Given the description of an element on the screen output the (x, y) to click on. 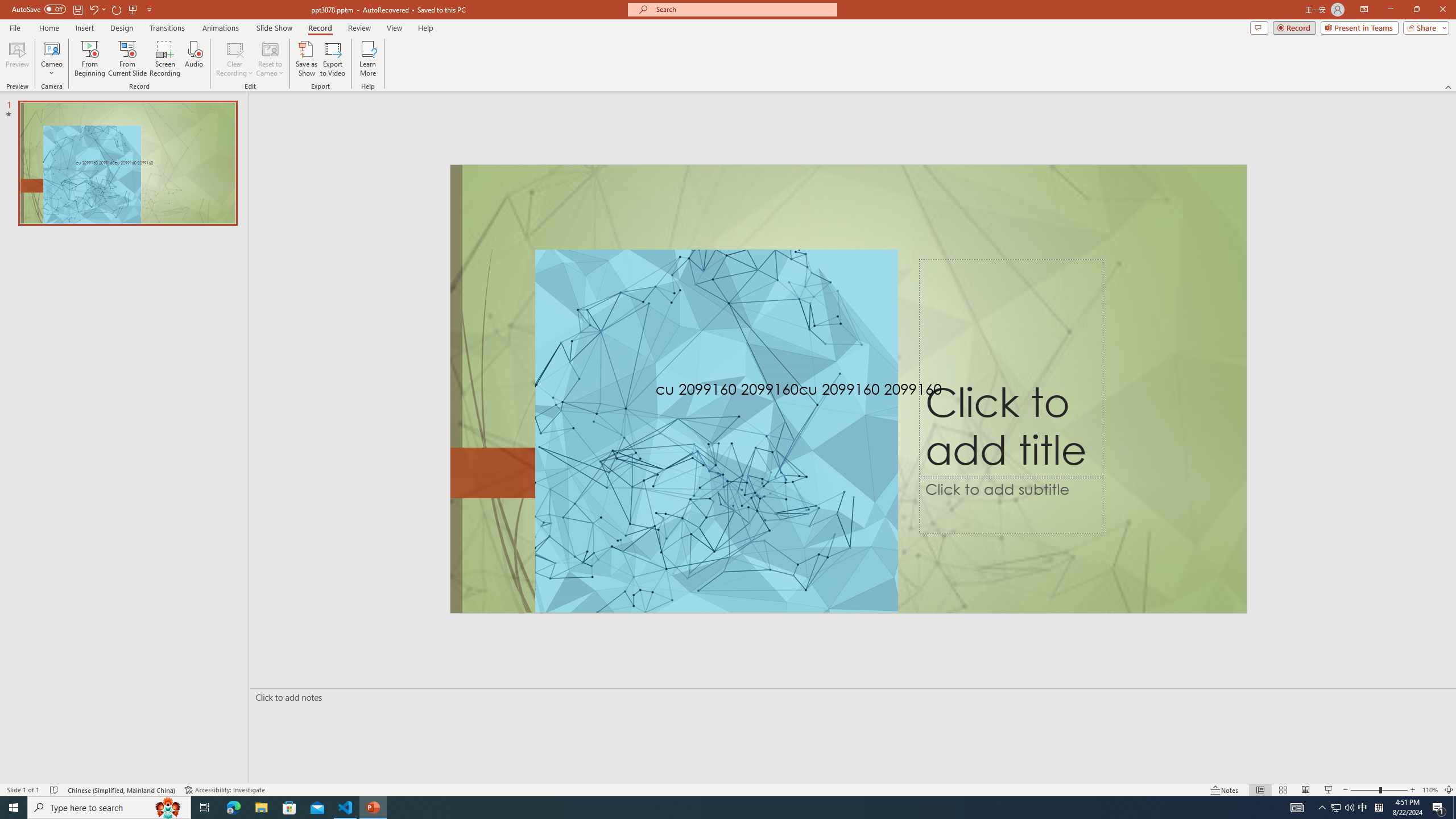
Minimize (1390, 9)
Insert (83, 28)
Review (359, 28)
Slide Sorter (1282, 790)
Cameo (51, 48)
Present in Teams (1359, 27)
View (395, 28)
Reading View (1305, 790)
Screen Recording (165, 58)
From Beginning (133, 9)
From Current Slide... (127, 58)
